Given the description of an element on the screen output the (x, y) to click on. 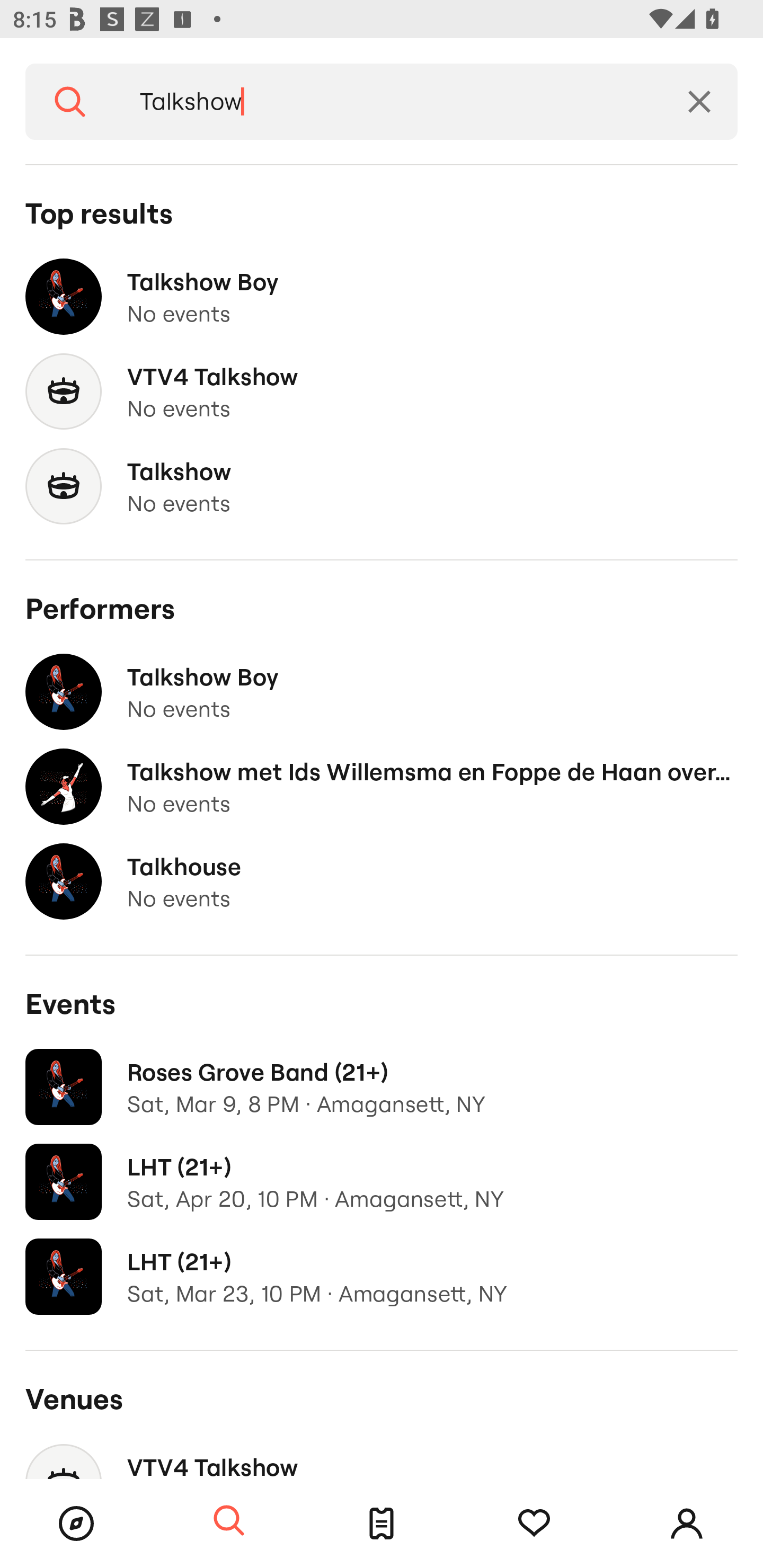
Search (69, 101)
Talkshow (387, 101)
Clear (699, 101)
Talkshow Boy No events (381, 296)
VTV4 Talkshow No events (381, 391)
Talkshow No events (381, 486)
Talkshow Boy No events (381, 692)
Talkhouse No events (381, 881)
LHT (21+) Sat, Apr 20, 10 PM · Amagansett, NY (381, 1182)
LHT (21+) Sat, Mar 23, 10 PM · Amagansett, NY (381, 1276)
Browse (76, 1523)
Search (228, 1521)
Tickets (381, 1523)
Tracking (533, 1523)
Account (686, 1523)
